Given the description of an element on the screen output the (x, y) to click on. 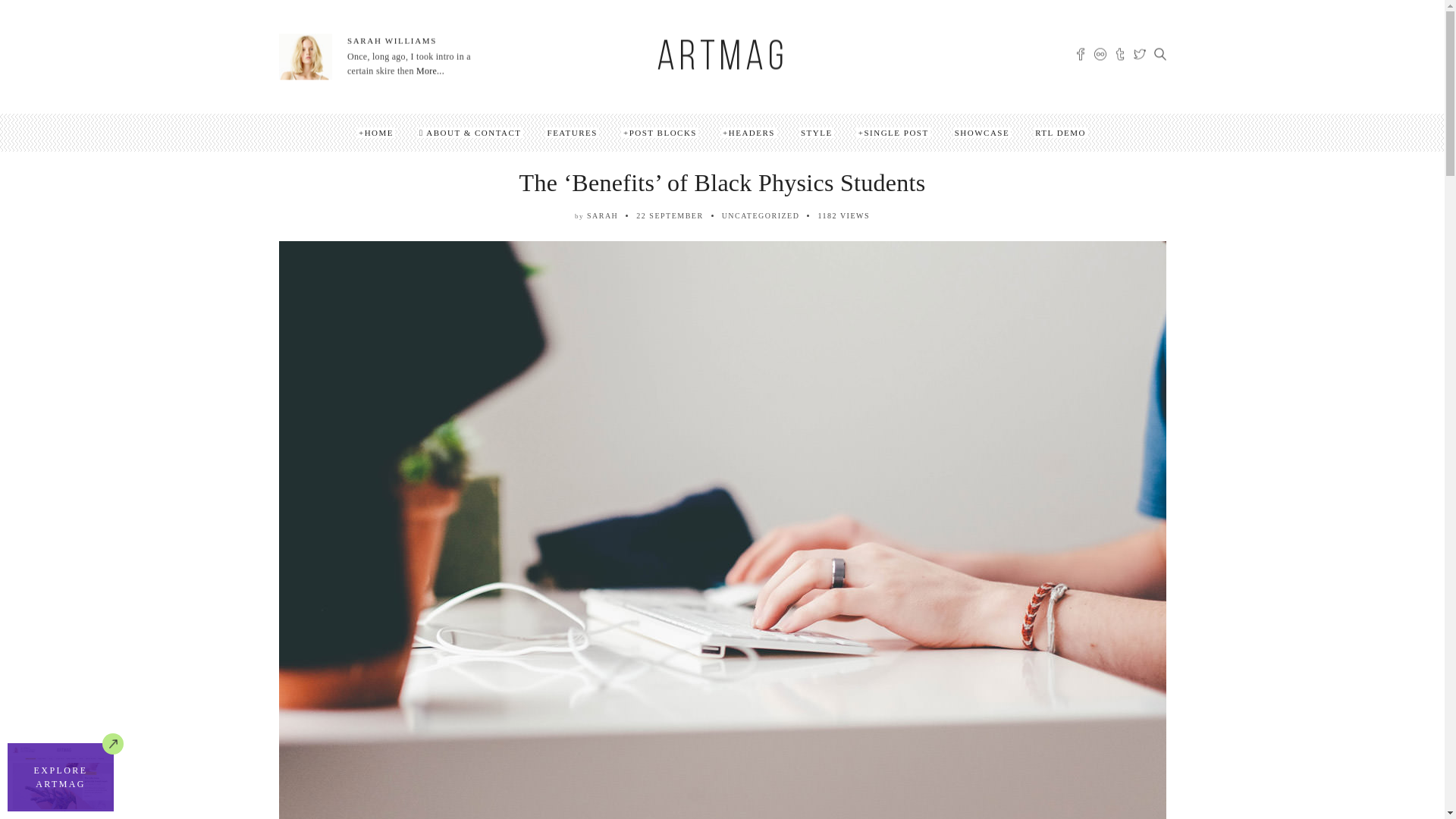
ARTMAG Element type: text (721, 58)
22 SEPTEMBER Element type: text (669, 215)
HOME Element type: text (376, 132)
More... Element type: text (429, 70)
SHOWCASE Element type: text (982, 132)
UNCATEGORIZED Element type: text (760, 215)
RTL DEMO Element type: text (1060, 132)
STYLE Element type: text (816, 132)
SARAH Element type: text (602, 215)
SINGLE POST Element type: text (893, 132)
HEADERS Element type: text (748, 132)
EXPLORE ARTMAG Element type: text (60, 777)
POST BLOCKS Element type: text (659, 132)
FEATURES Element type: text (572, 132)
SARAH WILLIAMS Element type: text (391, 40)
